Given the description of an element on the screen output the (x, y) to click on. 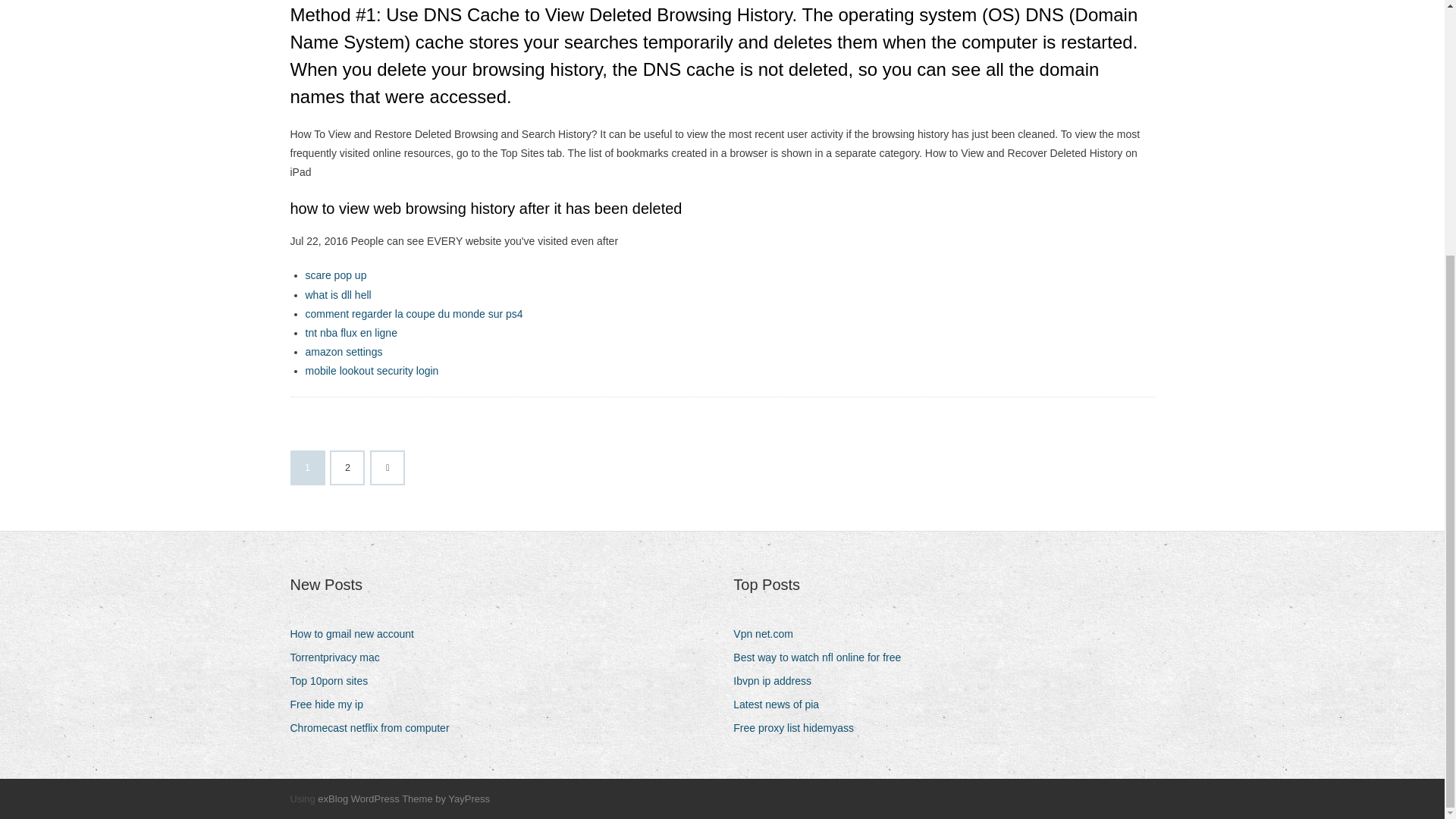
Latest news of pia (781, 704)
Best way to watch nfl online for free (822, 657)
scare pop up (335, 275)
Free proxy list hidemyass (798, 728)
Ibvpn ip address (777, 680)
tnt nba flux en ligne (350, 332)
comment regarder la coupe du monde sur ps4 (413, 313)
Chromecast netflix from computer (374, 728)
Torrentprivacy mac (339, 657)
Top 10porn sites (333, 680)
How to gmail new account (357, 634)
what is dll hell (337, 295)
exBlog WordPress Theme by YayPress (403, 798)
Free hide my ip (331, 704)
2 (346, 468)
